Given the description of an element on the screen output the (x, y) to click on. 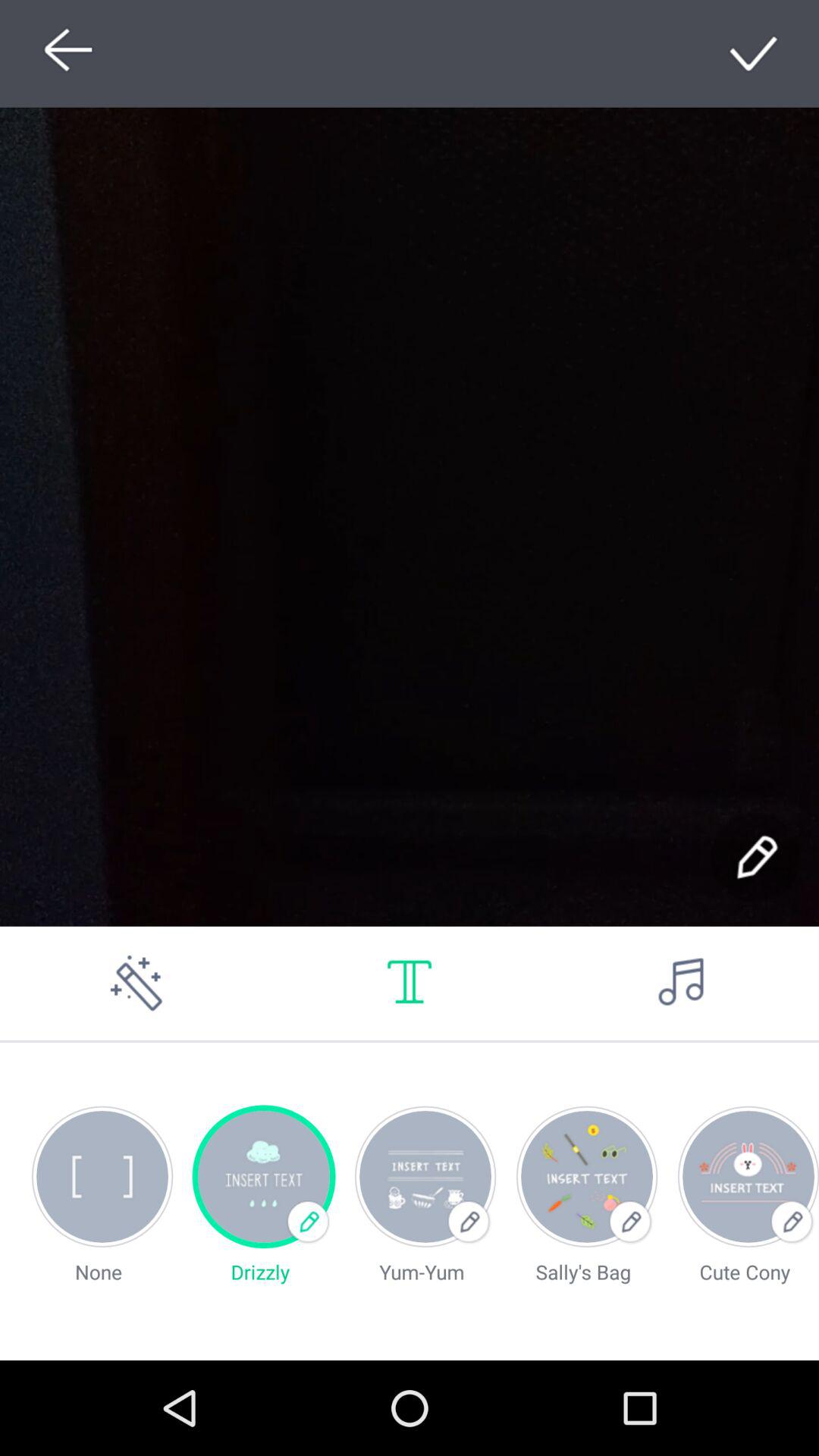
use the pen tool (755, 857)
